Given the description of an element on the screen output the (x, y) to click on. 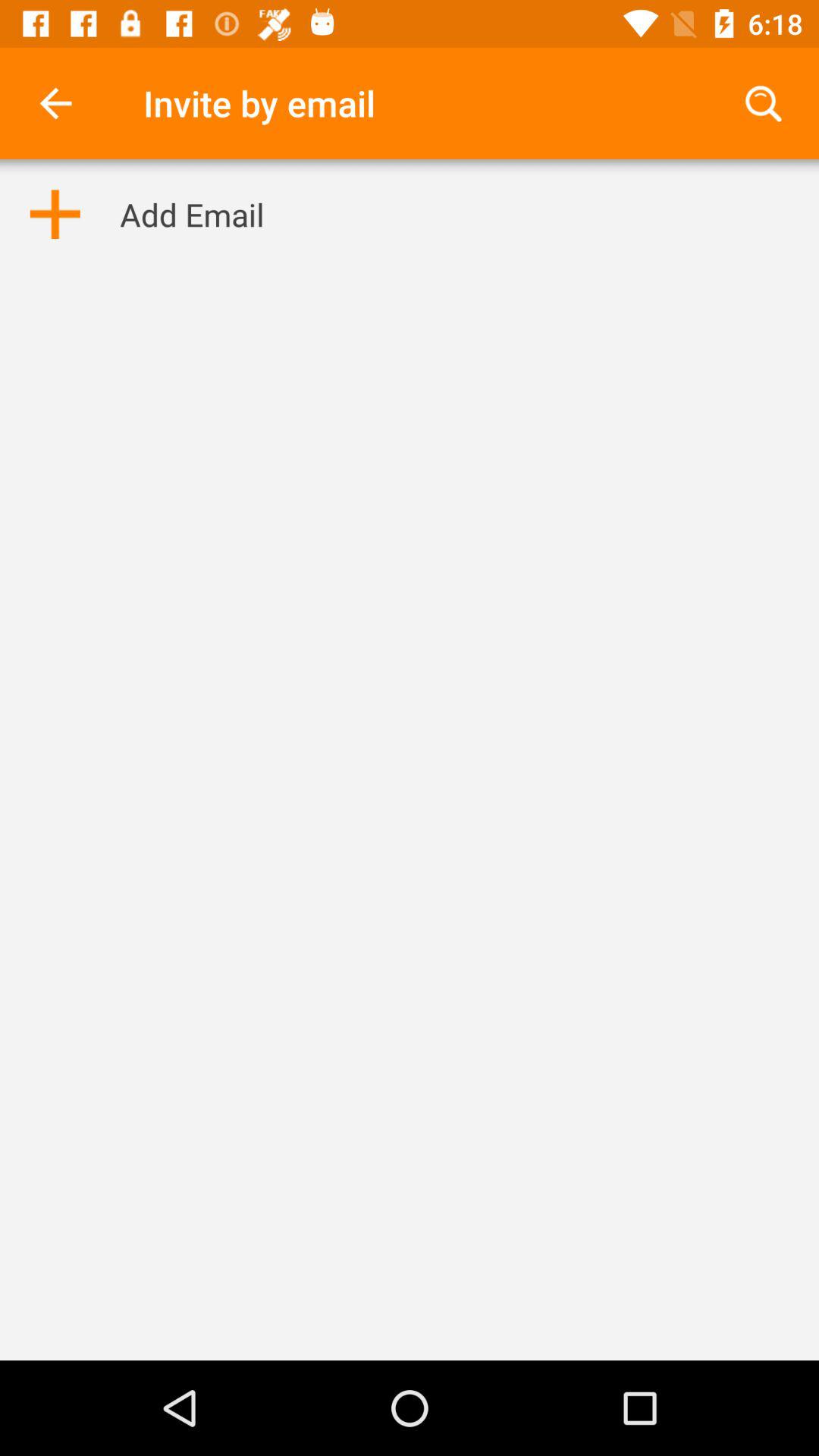
click the icon next to invite by email item (763, 103)
